Given the description of an element on the screen output the (x, y) to click on. 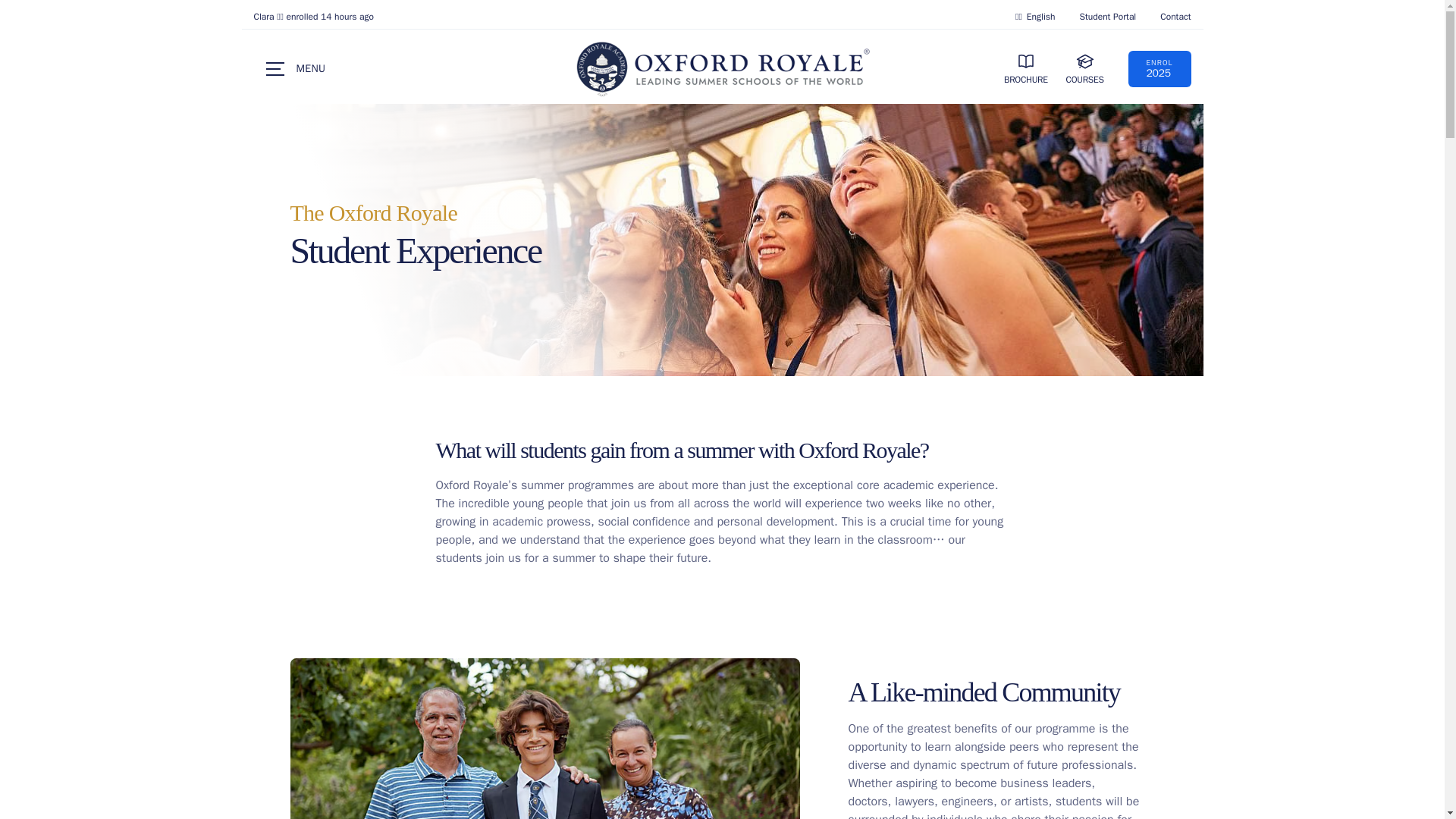
Contact (1175, 16)
BROCHURE (1159, 68)
Enrol for 2025 (1026, 68)
COURSES (1159, 68)
Student Portal (1084, 68)
MENU (1106, 16)
